Given the description of an element on the screen output the (x, y) to click on. 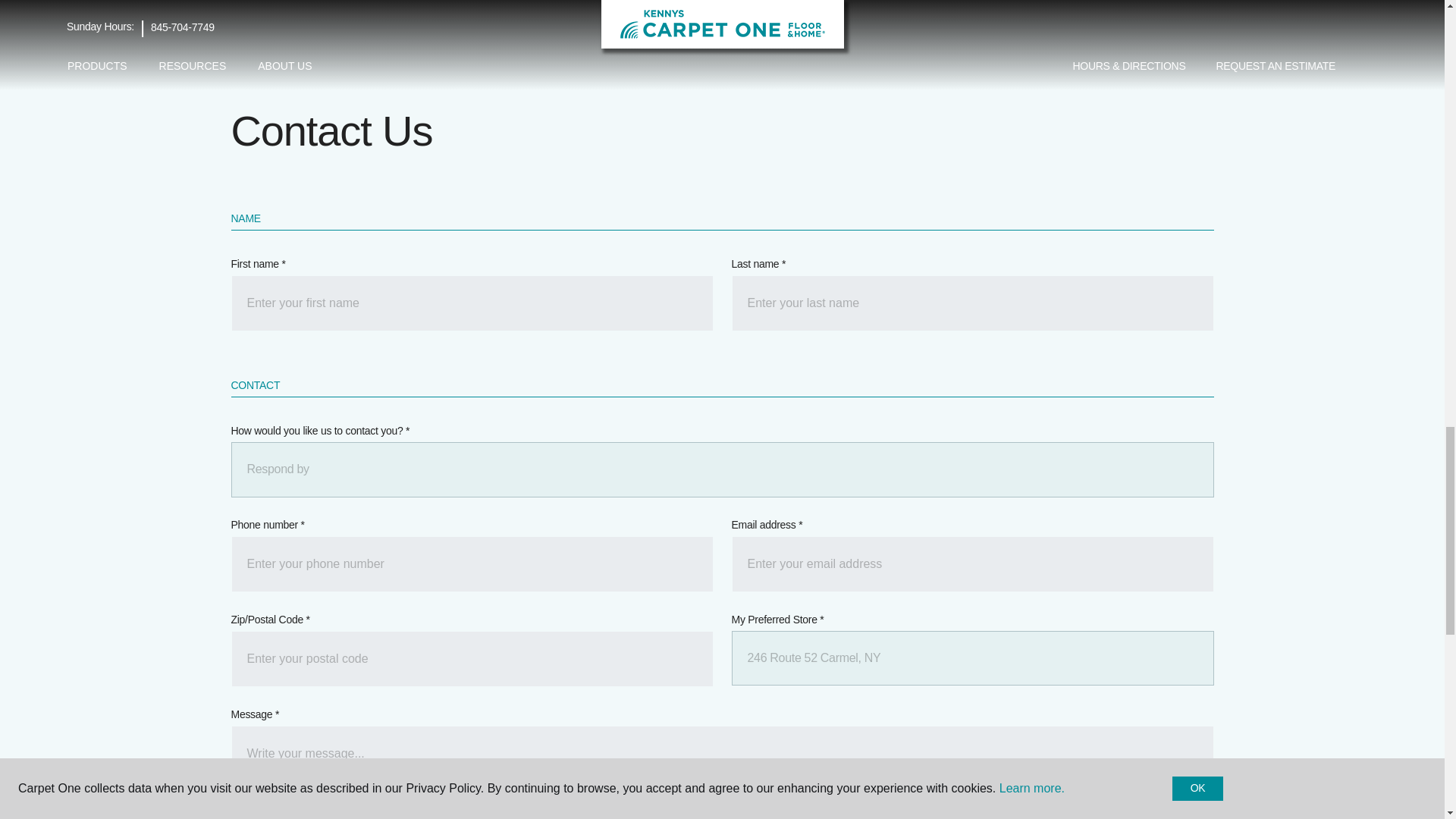
LastName (971, 303)
FirstName (471, 303)
MyMessage (721, 771)
CleanHomePhone (471, 564)
EmailAddress (971, 564)
PostalCode (471, 658)
